Given the description of an element on the screen output the (x, y) to click on. 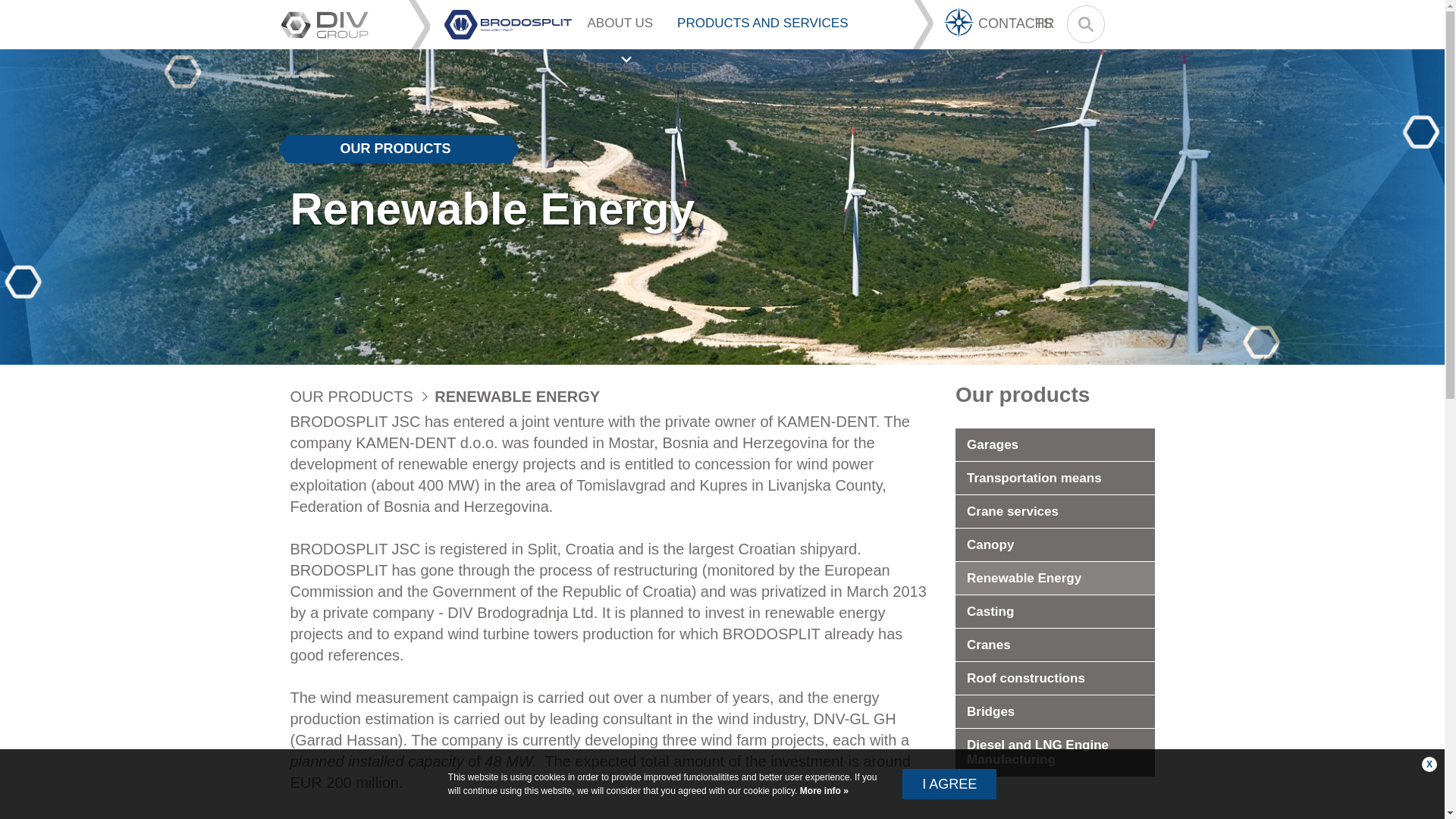
PRODUCTS AND SERVICES (761, 29)
DIV Group (343, 25)
DIV Group (508, 25)
ABOUT US (618, 29)
